Given the description of an element on the screen output the (x, y) to click on. 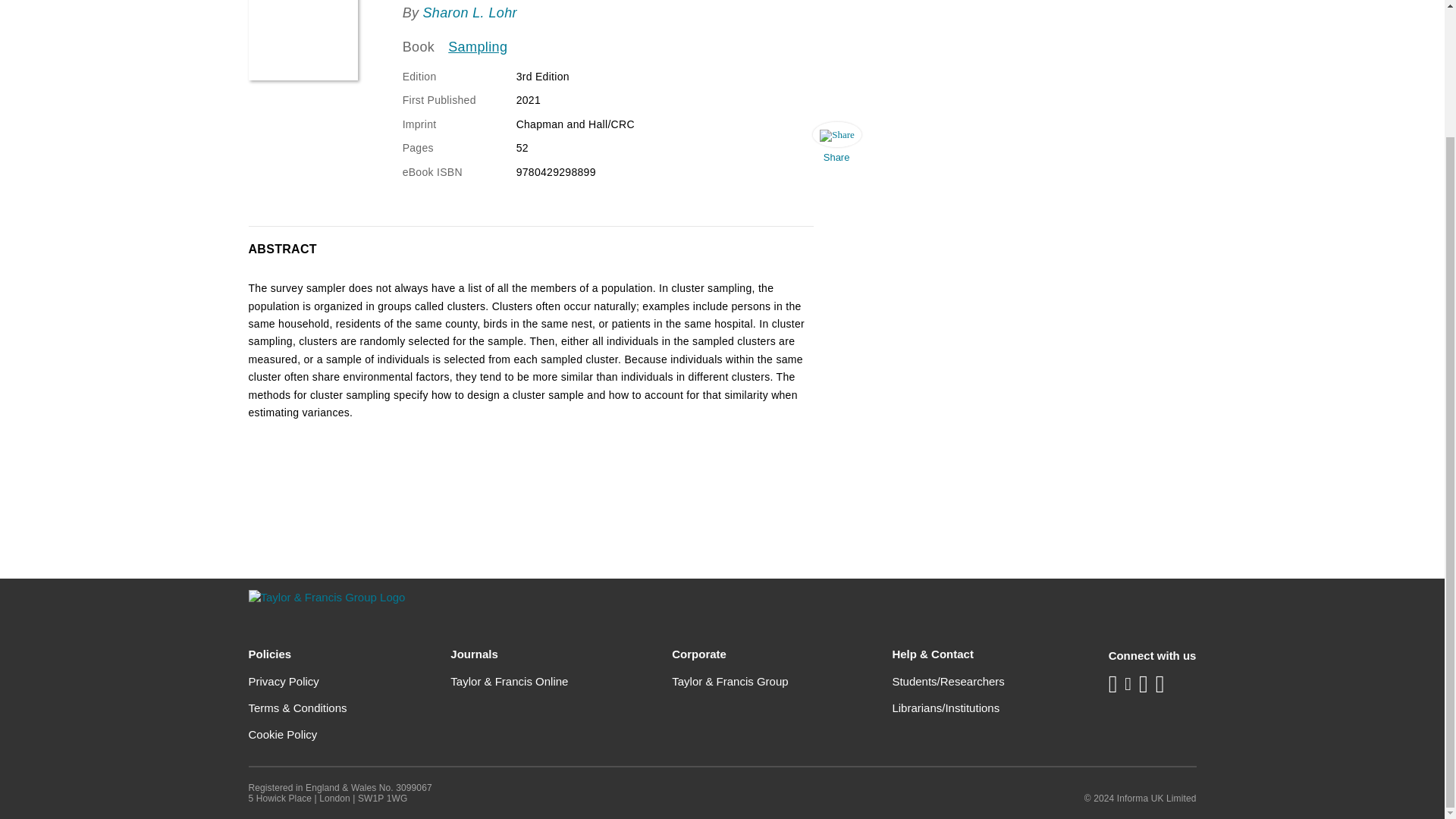
Sharon L. Lohr (469, 12)
Cookie Policy (282, 734)
Privacy Policy (283, 681)
Share (836, 145)
Cluster Sampling with Equal Probabilities (303, 40)
Sampling (477, 47)
